Given the description of an element on the screen output the (x, y) to click on. 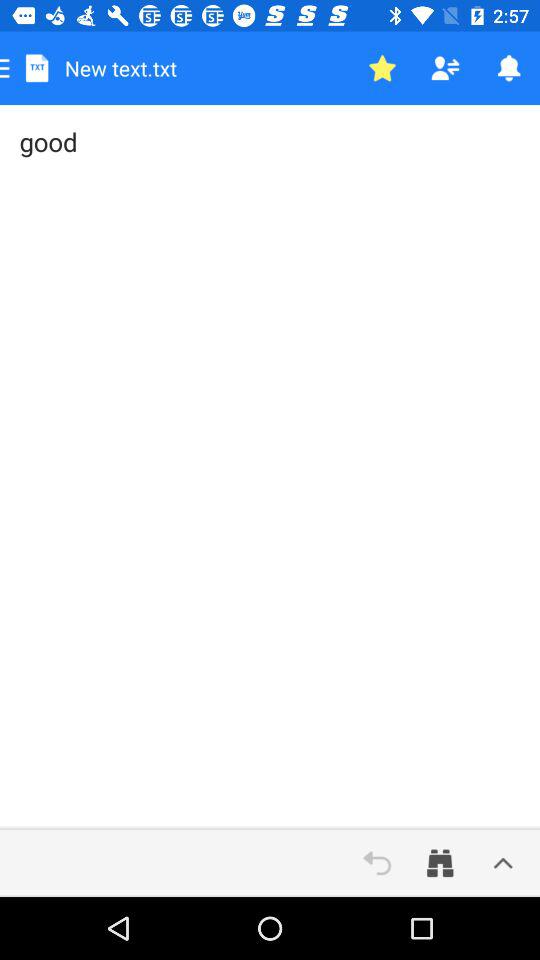
open menu list (503, 863)
